Given the description of an element on the screen output the (x, y) to click on. 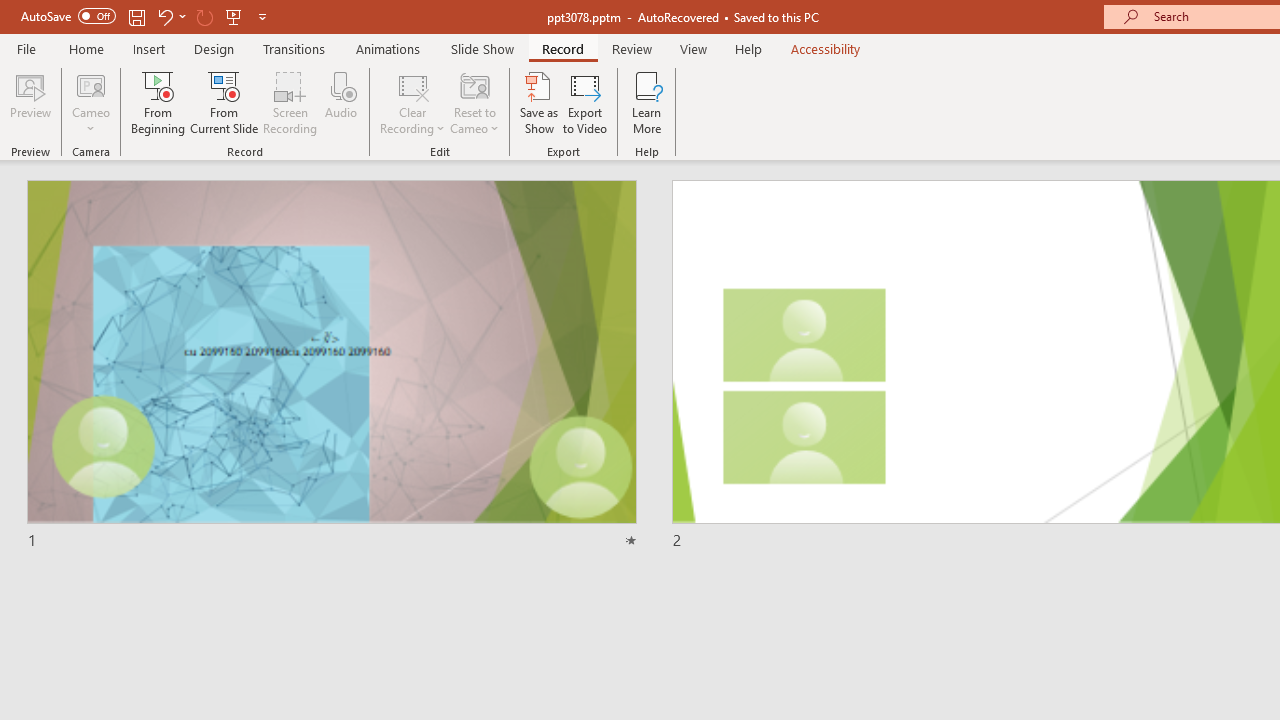
Export to Video (585, 102)
